Given the description of an element on the screen output the (x, y) to click on. 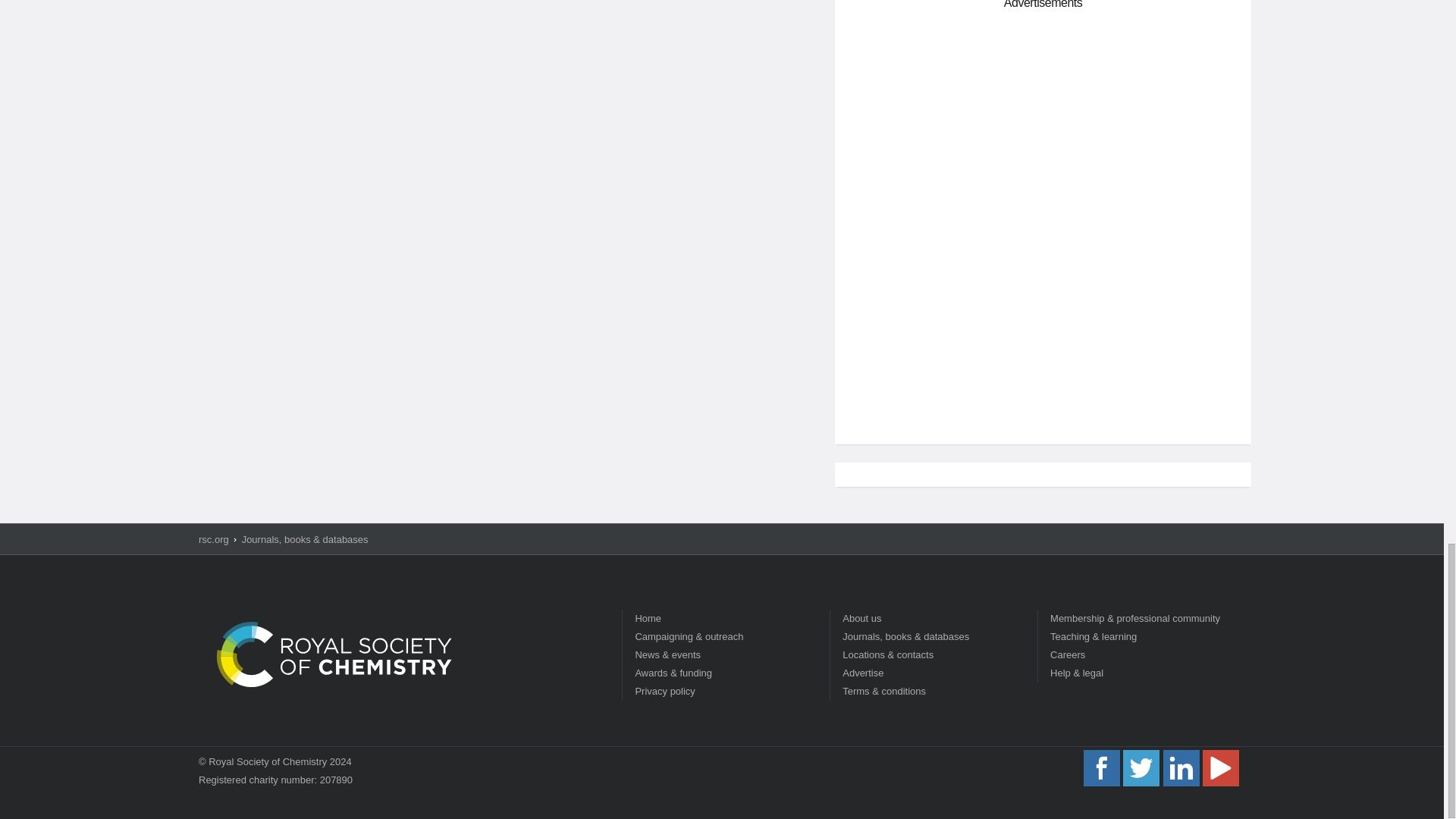
3rd party ad content (1043, 325)
3rd party ad content (1043, 123)
